Given the description of an element on the screen output the (x, y) to click on. 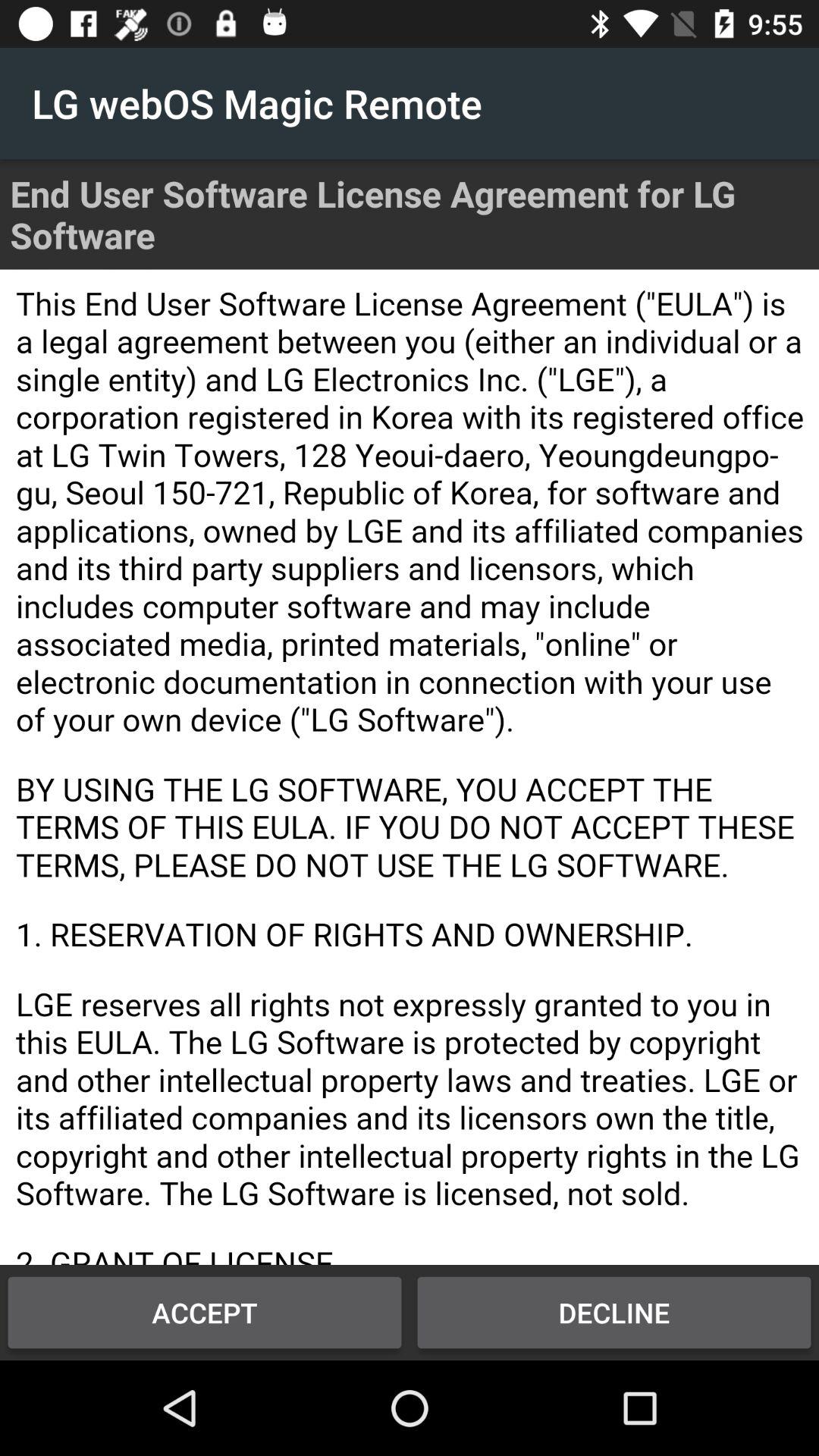
description (409, 766)
